Given the description of an element on the screen output the (x, y) to click on. 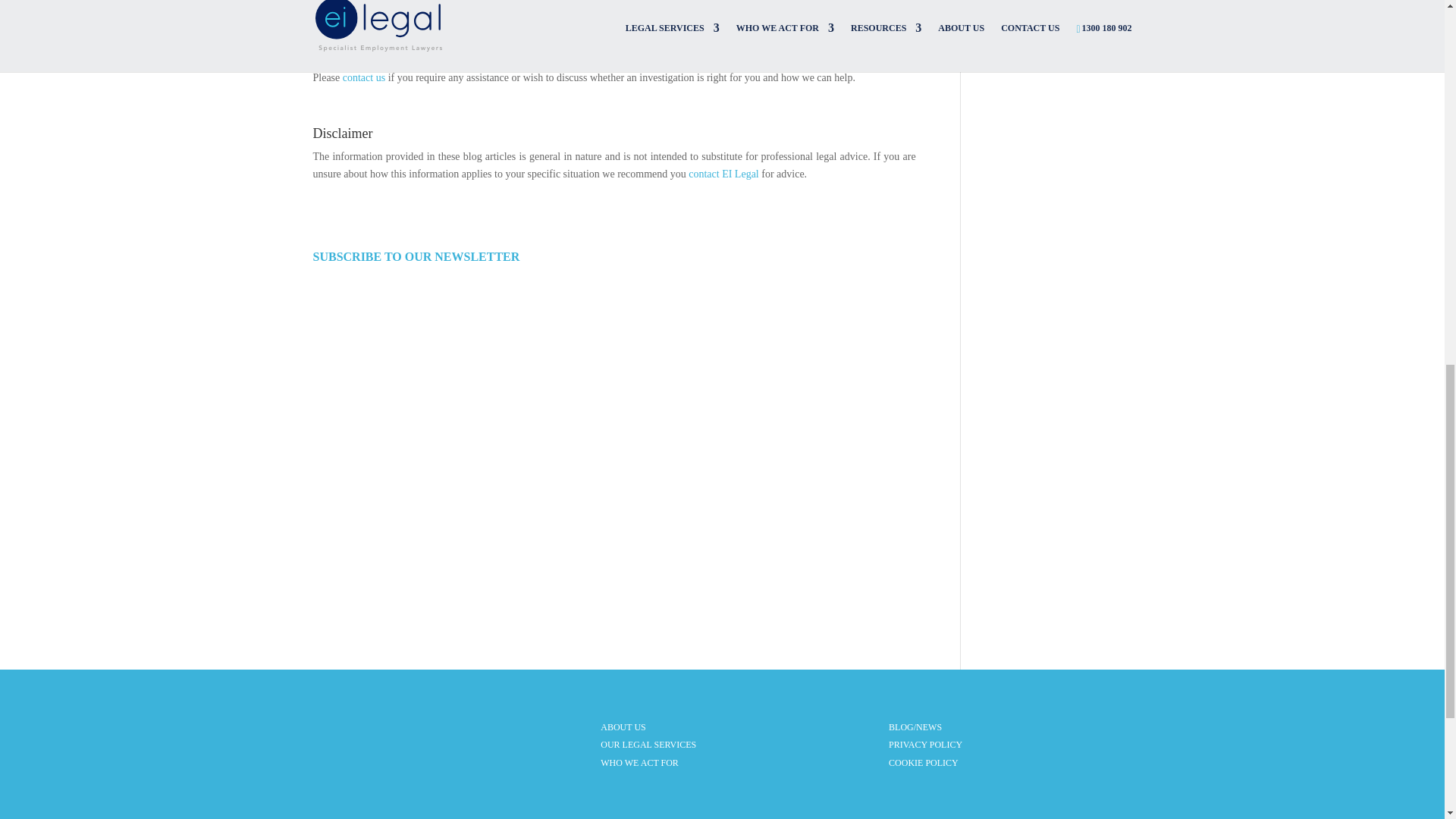
WHO WE ACT FOR (638, 762)
PRIVACY POLICY (925, 744)
OUR LEGAL SERVICES (647, 744)
ABOUT US (622, 726)
EI Legal  (332, 59)
contact us (363, 77)
COOKIE POLICY (923, 762)
contact EI Legal (723, 173)
